Given the description of an element on the screen output the (x, y) to click on. 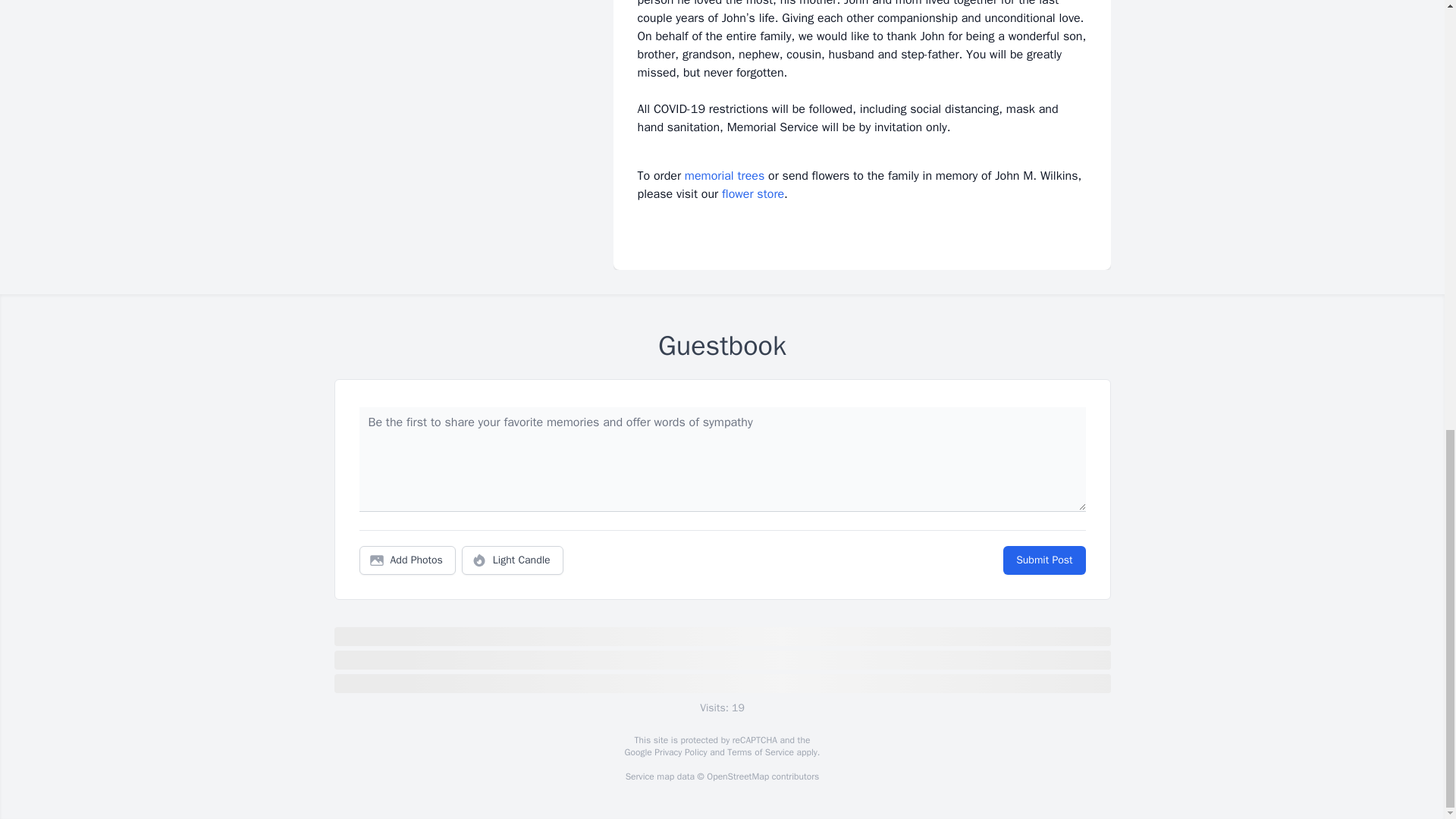
Privacy Policy (679, 752)
Terms of Service (759, 752)
flower store (753, 193)
Add Photos (407, 560)
memorial trees (724, 175)
Light Candle (512, 560)
OpenStreetMap (737, 776)
Submit Post (1043, 560)
